Given the description of an element on the screen output the (x, y) to click on. 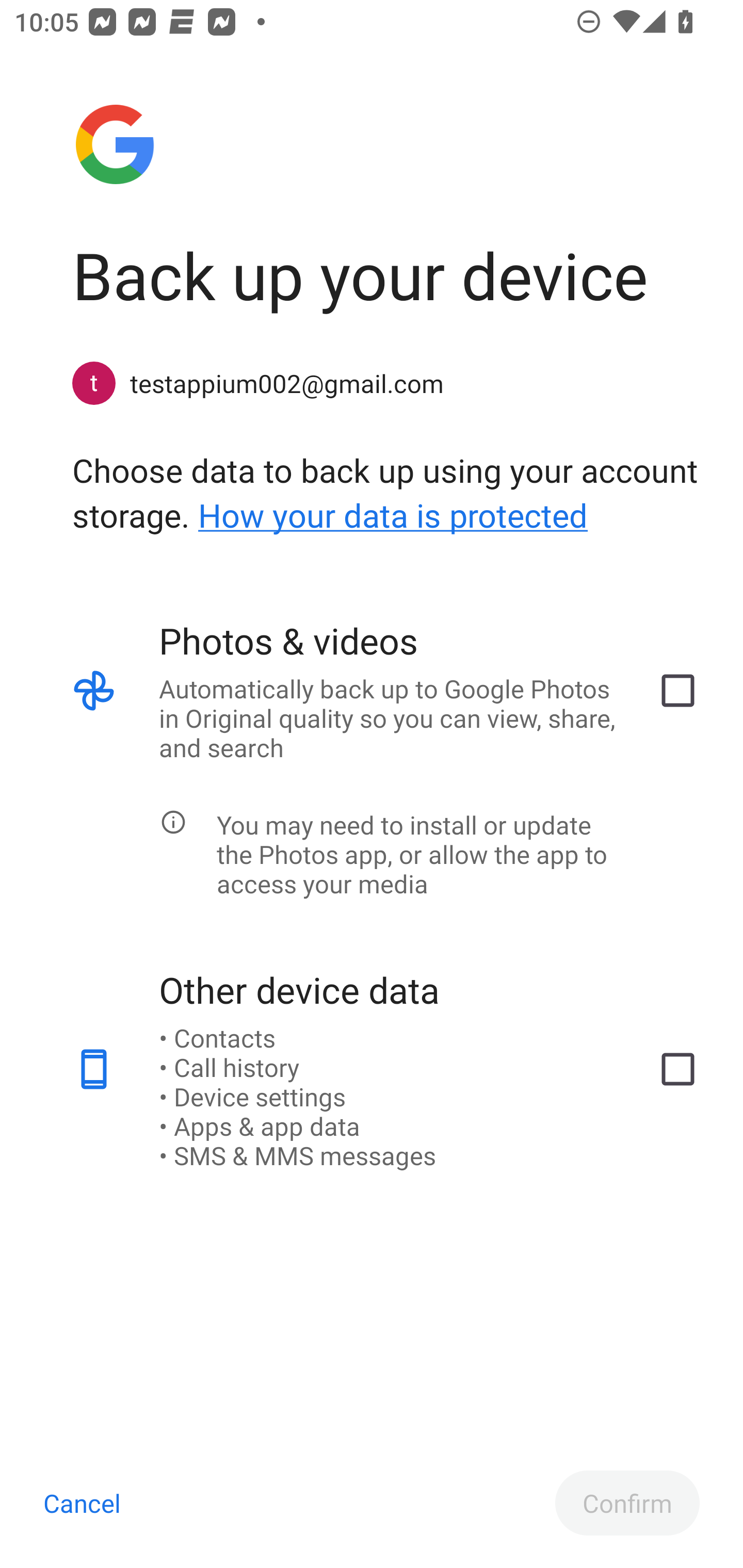
testappium002@gmail.com (385, 383)
Cancel (81, 1502)
Confirm (627, 1502)
